Given the description of an element on the screen output the (x, y) to click on. 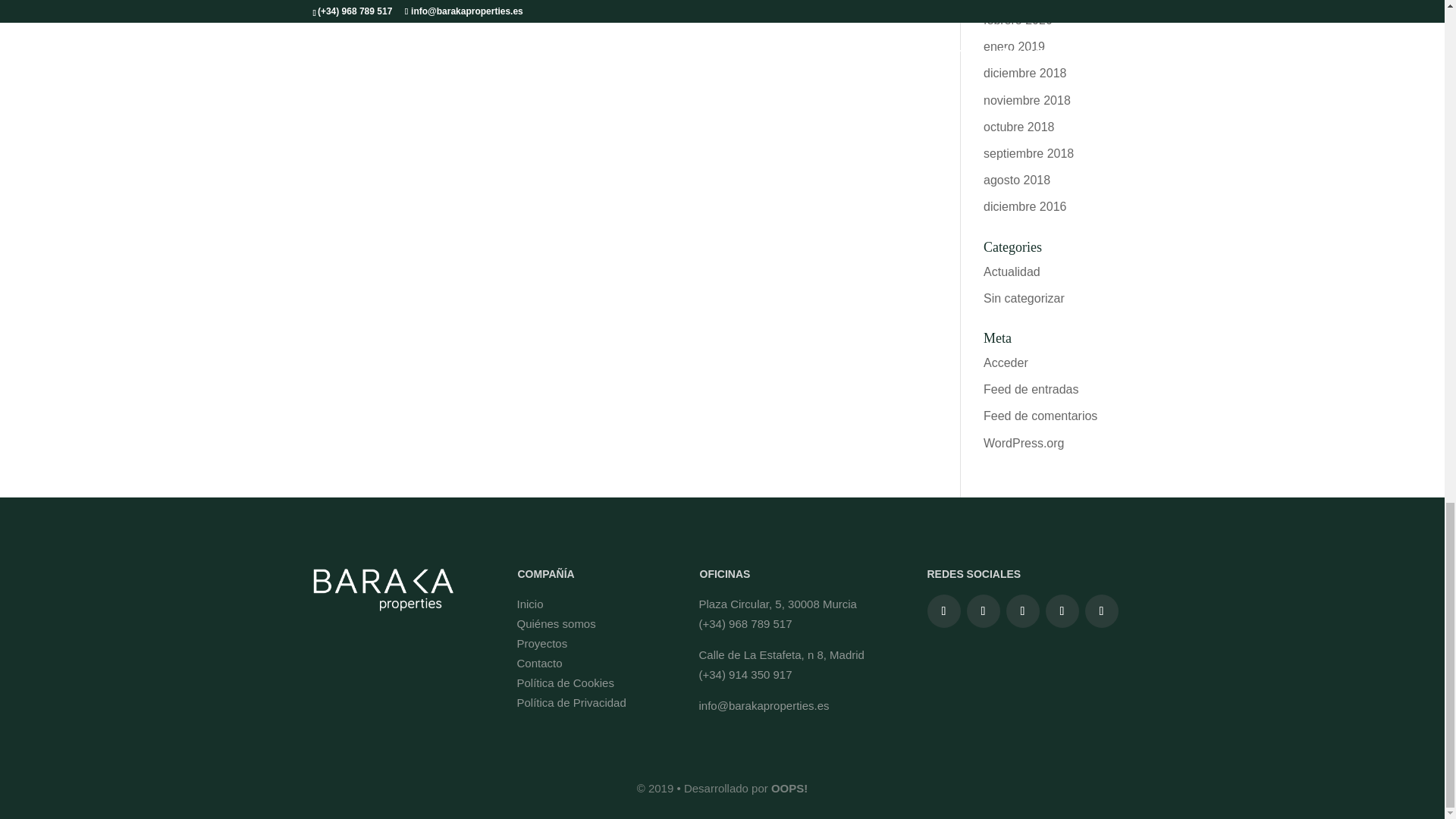
Seguir en Instagram (982, 611)
Seguir en LinkedIn (1061, 611)
Seguir en Facebook (942, 611)
Seguir en Youtube (1101, 611)
Seguir en Twitter (1022, 611)
